Given the description of an element on the screen output the (x, y) to click on. 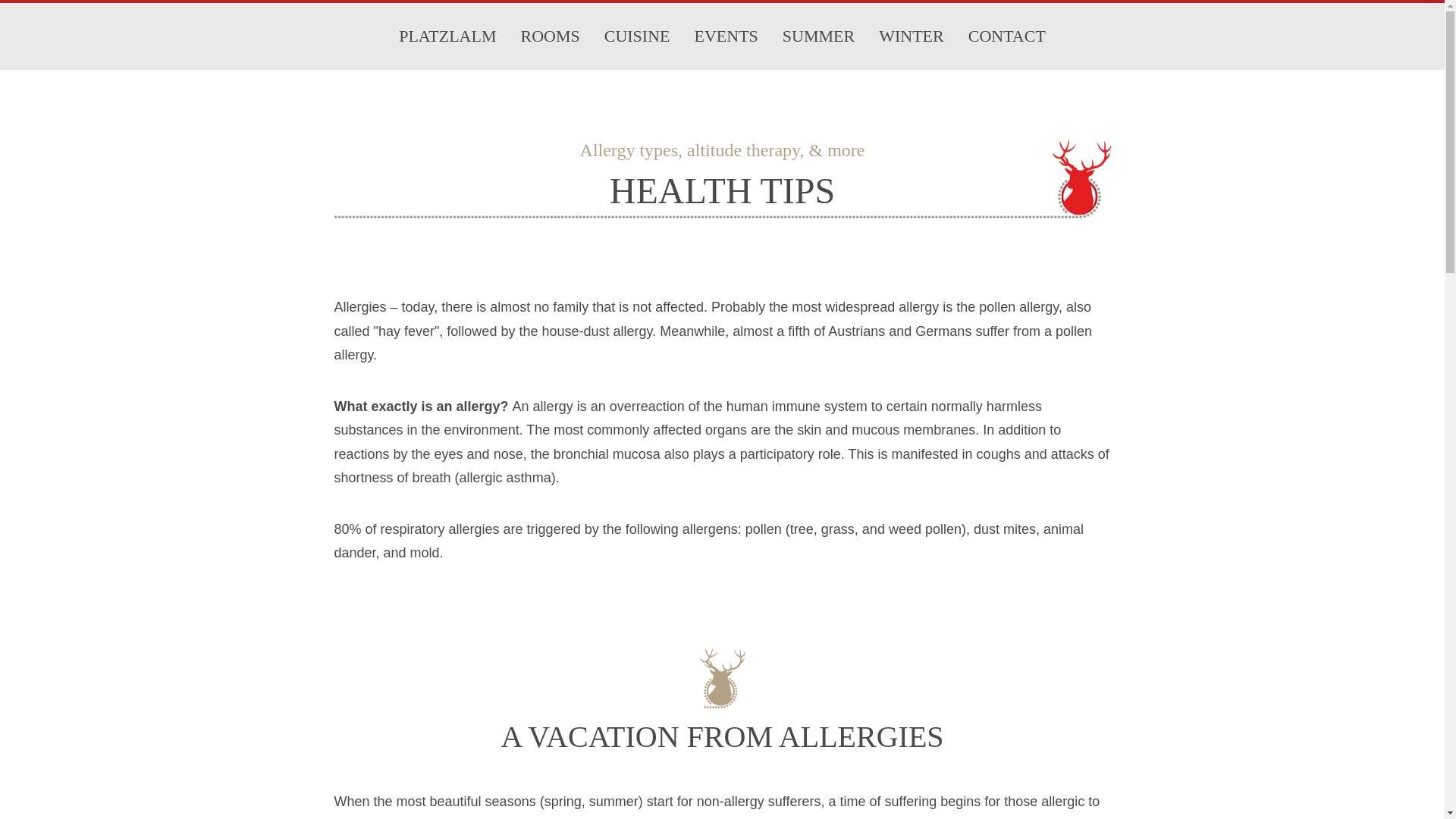
CONTACT (1006, 36)
ROOMS (549, 36)
CUISINE (637, 36)
PlatzlAlm - Platzlalm (447, 36)
PlatzlAlm - Cuisine (637, 36)
PLATZLALM (447, 36)
WINTER (911, 36)
PlatzlAlm - Rooms (549, 36)
EVENTS (726, 36)
SUMMER (818, 36)
